Given the description of an element on the screen output the (x, y) to click on. 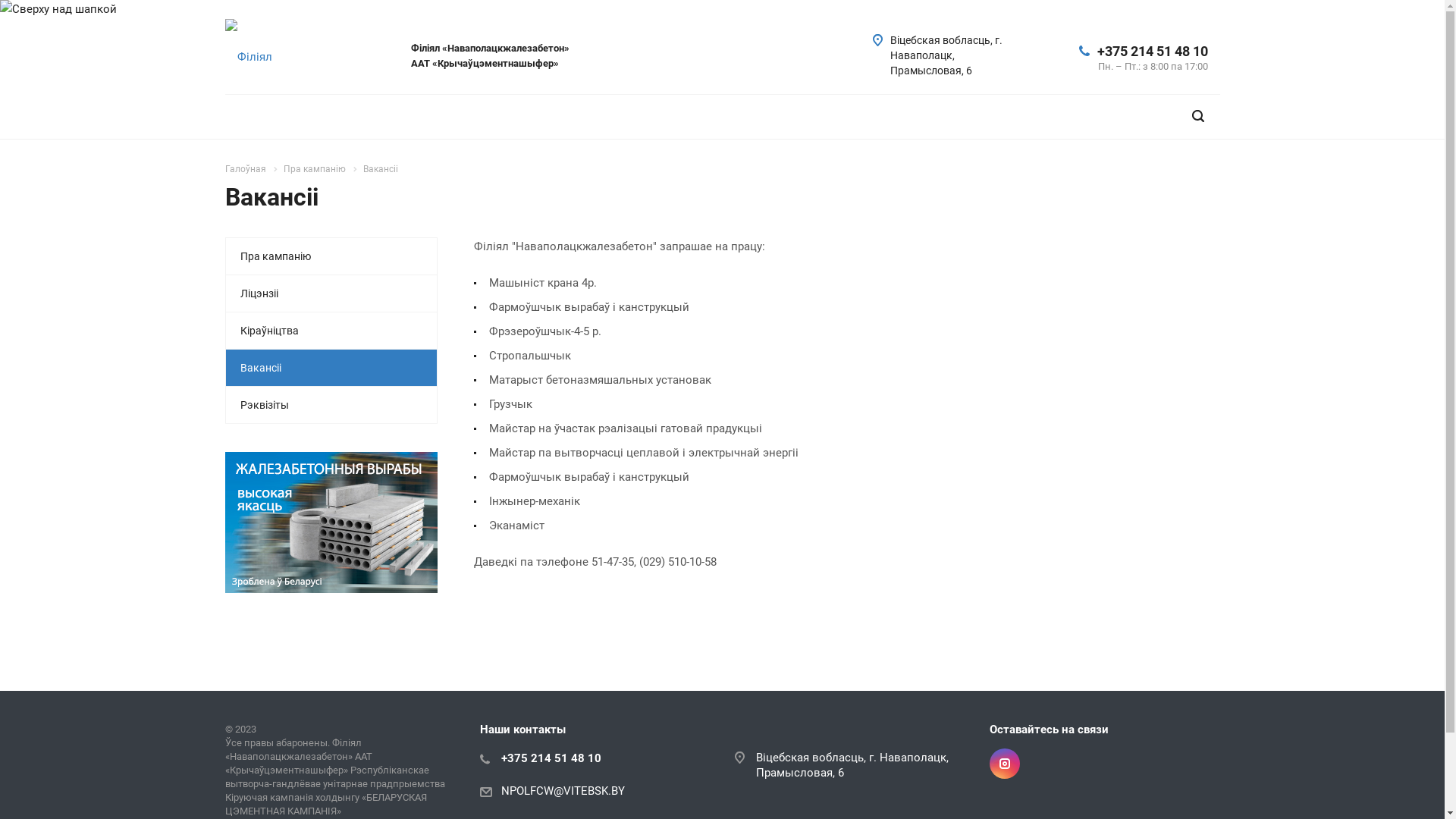
+375 214 51 48 10 Element type: text (550, 757)
Instagram Element type: hover (1003, 763)
NPOLFCW@VITEBSK.BY Element type: text (562, 790)
+375 214 51 48 10 Element type: text (1151, 50)
